Given the description of an element on the screen output the (x, y) to click on. 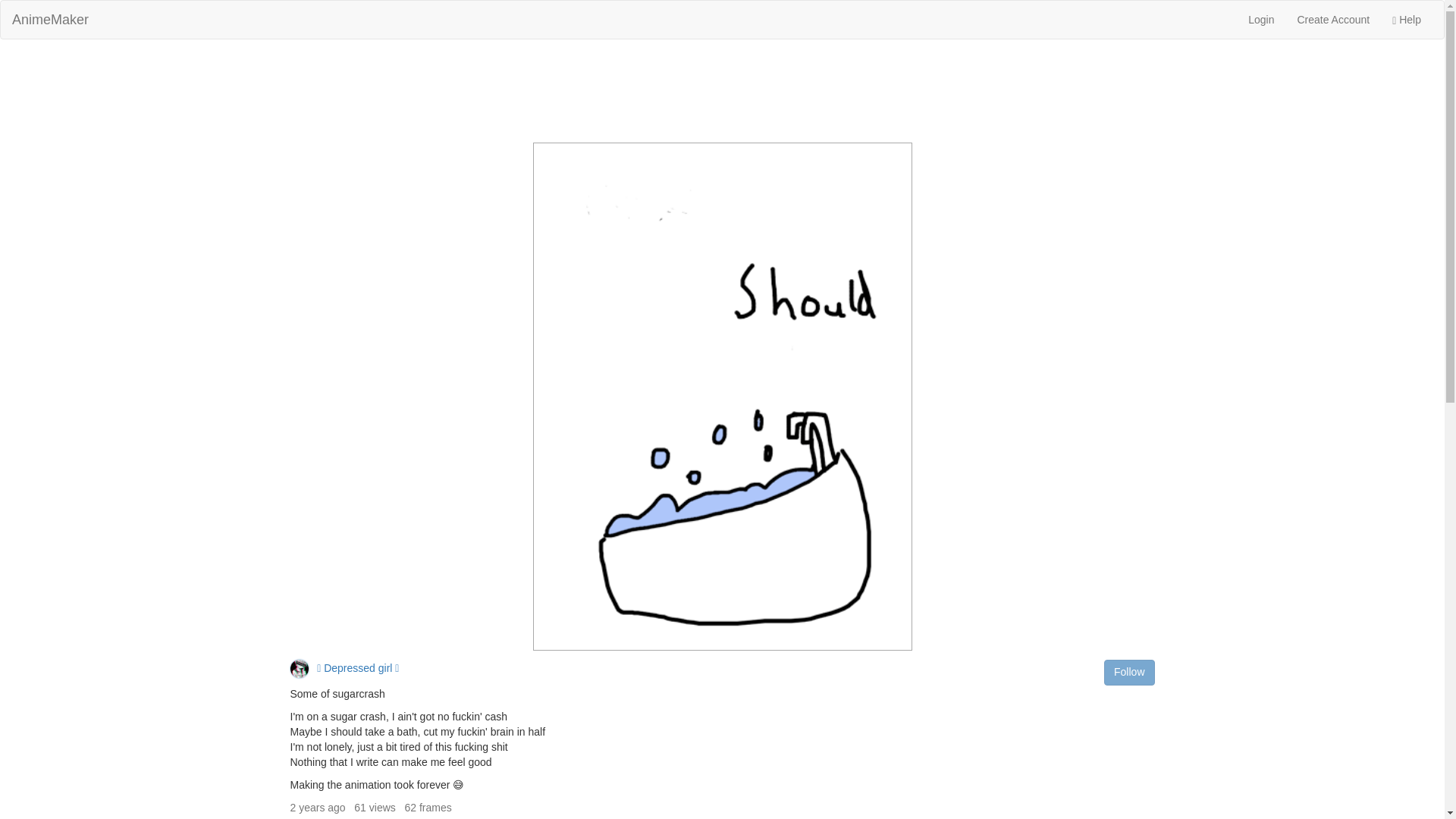
Create Account (1332, 19)
AnimeMaker (50, 19)
Follow (1128, 672)
Follow (1128, 672)
Login (1260, 19)
Help (1406, 19)
